Given the description of an element on the screen output the (x, y) to click on. 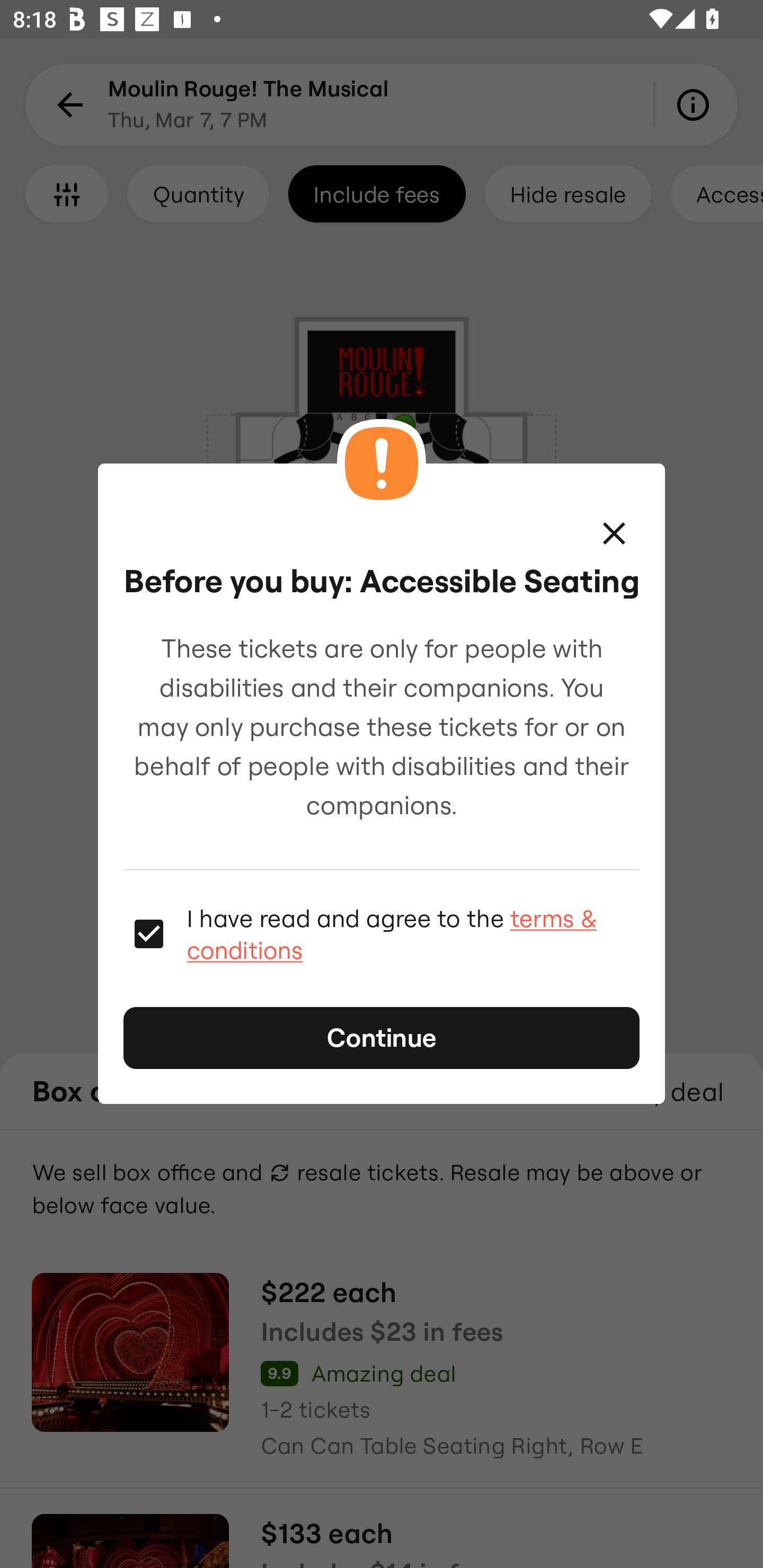
Close this modal (614, 533)
I have read and agree to the terms & conditions (412, 933)
Continue (381, 1037)
